Given the description of an element on the screen output the (x, y) to click on. 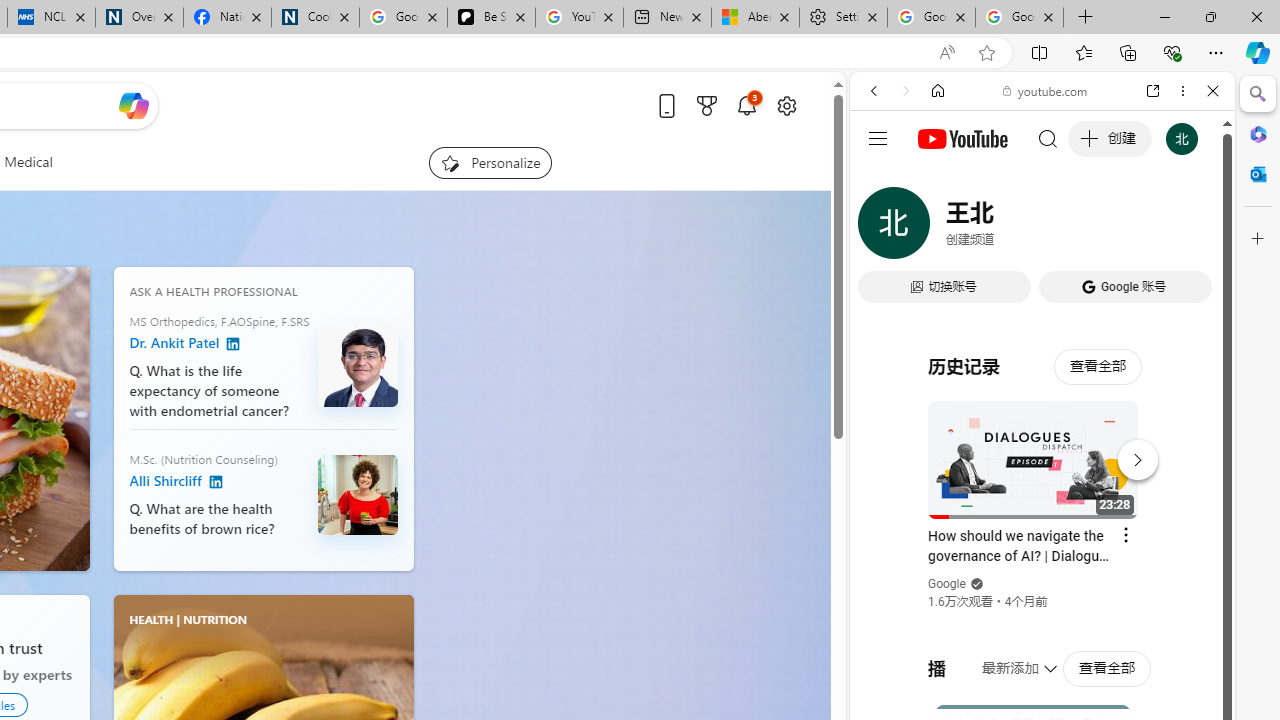
Microsoft rewards (707, 105)
Search videos from youtube.com (1005, 657)
Music (1042, 543)
#you (1042, 445)
Dr. Ankit Patel (357, 366)
Open link in new tab (1153, 91)
